Given the description of an element on the screen output the (x, y) to click on. 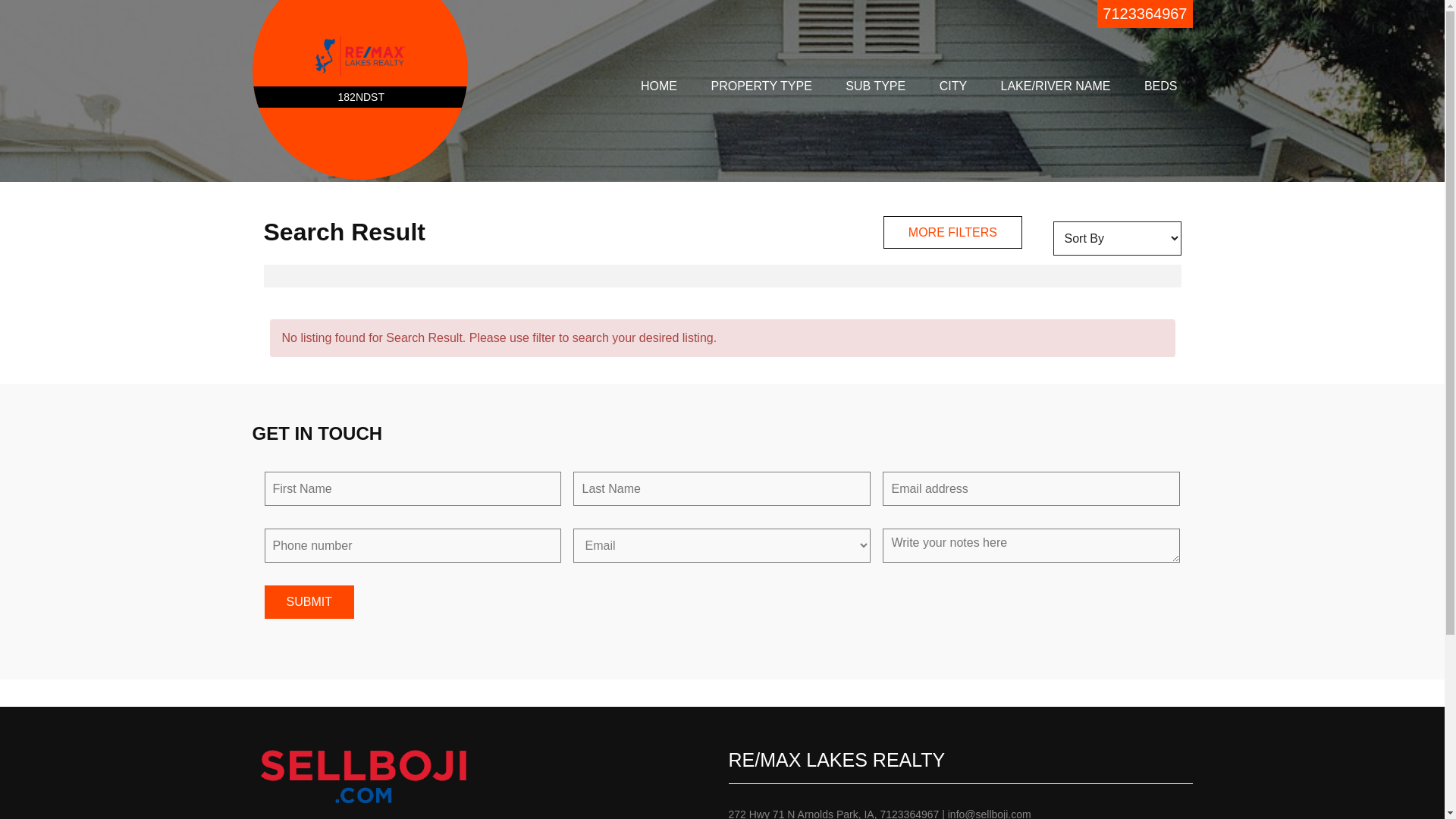
SUBMIT Element type: text (308, 601)
HOME Element type: text (658, 86)
182NDST - 182NDST Element type: hover (359, 55)
MORE FILTERS Element type: text (952, 231)
